Given the description of an element on the screen output the (x, y) to click on. 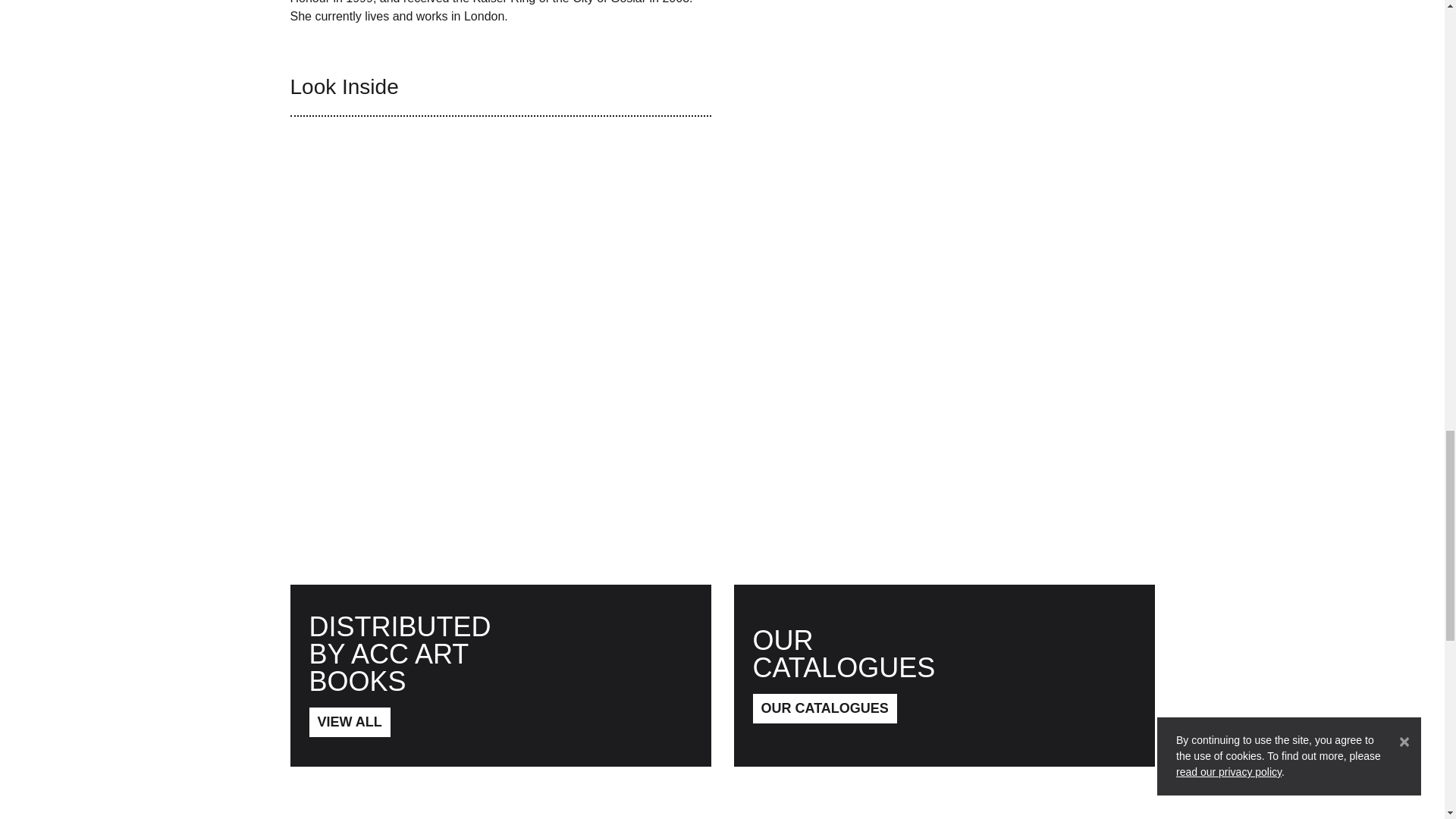
Look Inside: Bridget Riley: A Very Very Person (499, 291)
